Given the description of an element on the screen output the (x, y) to click on. 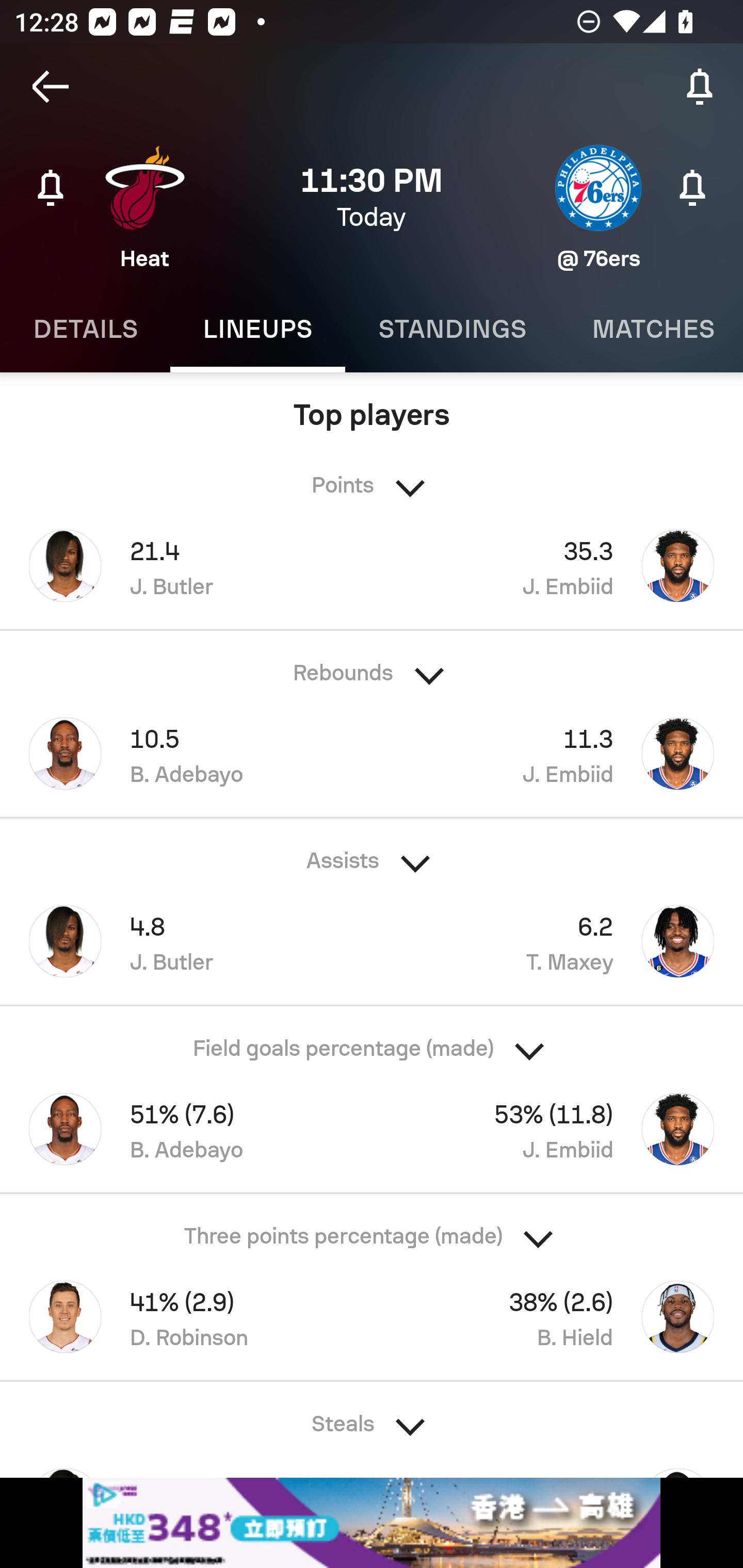
Navigate up (50, 86)
Details DETAILS (85, 329)
Standings STANDINGS (451, 329)
Matches MATCHES (650, 329)
Top players (371, 408)
Points (371, 479)
21.4 J. Butler (185, 565)
35.3 J. Embiid (557, 565)
Rebounds (371, 666)
10.5 B. Adebayo (185, 753)
11.3 J. Embiid (557, 753)
Assists (371, 854)
4.8 J. Butler (185, 941)
6.2 T. Maxey (557, 941)
Field goals percentage (made) (371, 1042)
51% (7.6) B. Adebayo (185, 1128)
53% (11.8) J. Embiid (557, 1128)
Three points percentage (made) (371, 1230)
41% (2.9) D. Robinson (185, 1316)
38% (2.6) B. Hield (557, 1316)
Steals (371, 1417)
2ph9hx2a_320x50 (371, 1522)
